Given the description of an element on the screen output the (x, y) to click on. 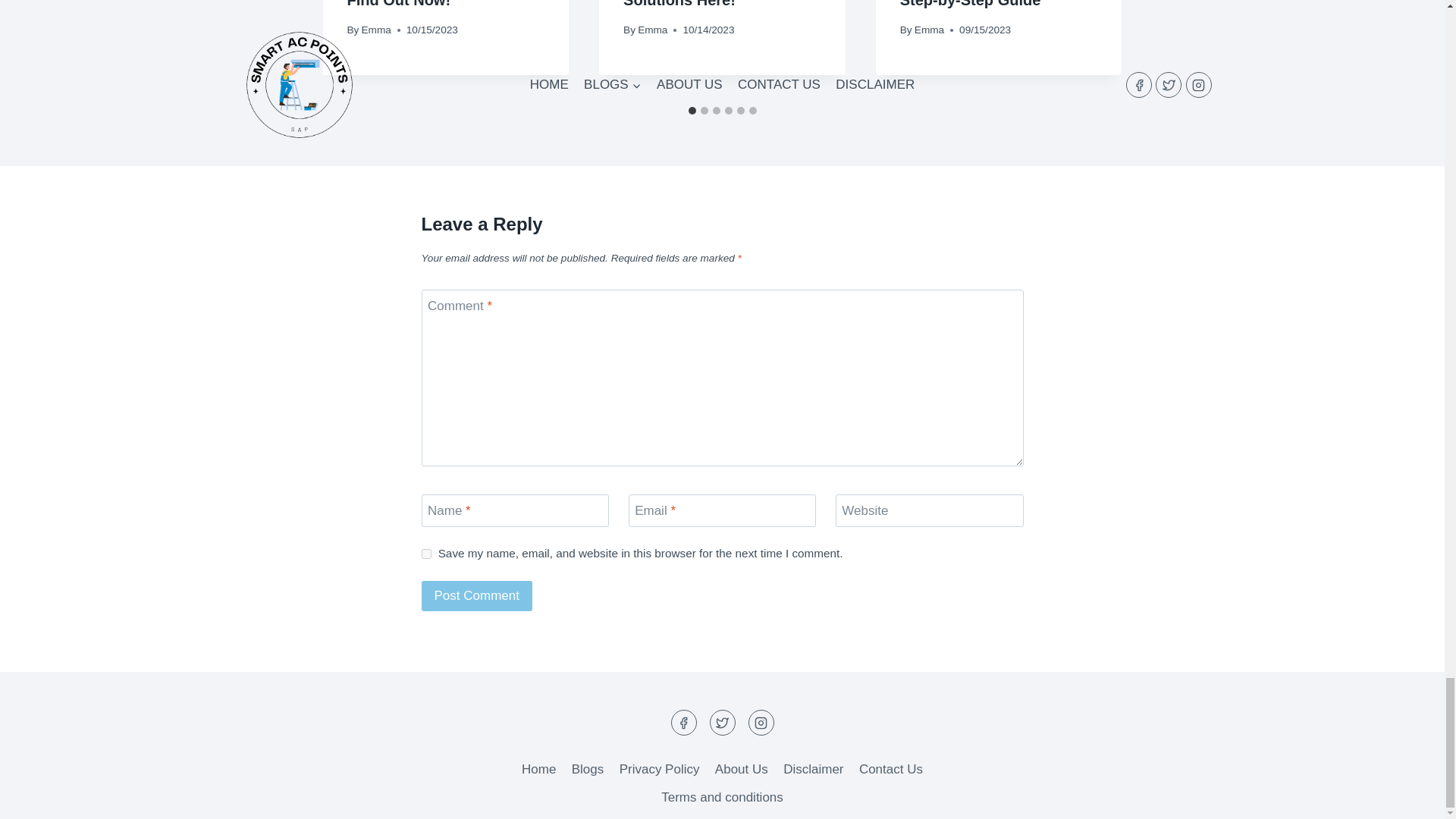
Post Comment (477, 595)
yes (426, 553)
